Given the description of an element on the screen output the (x, y) to click on. 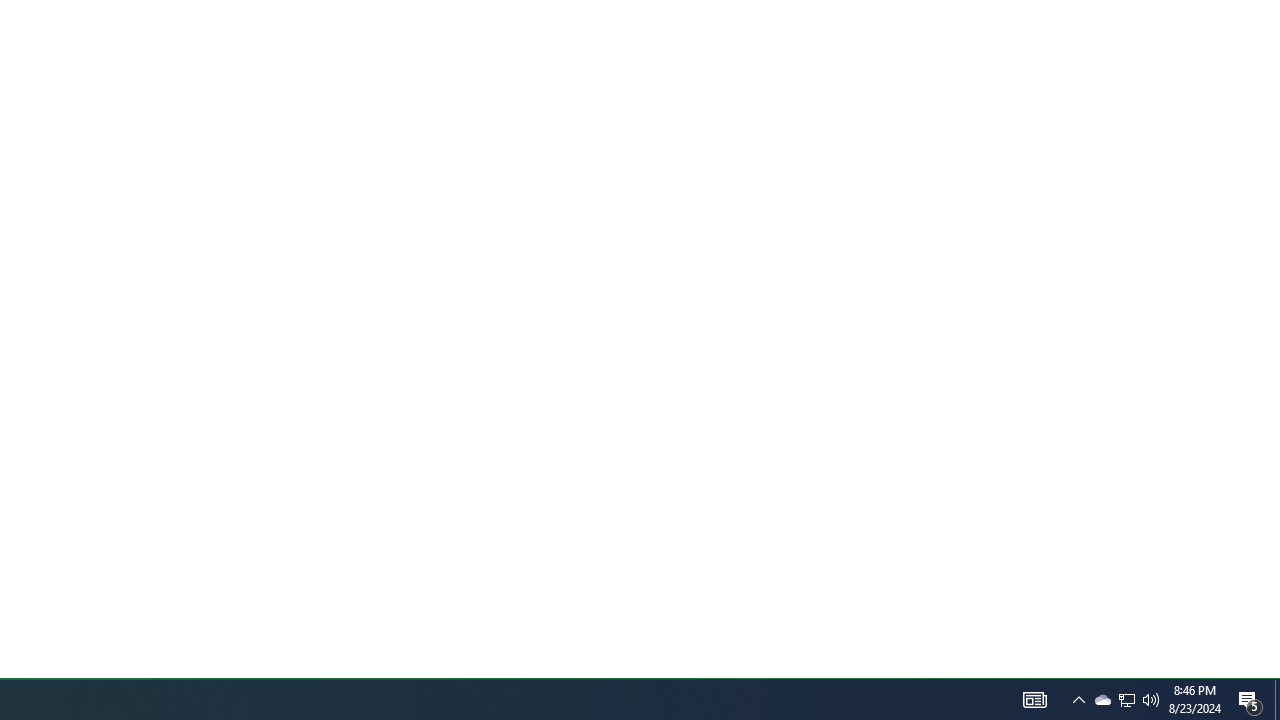
Notification Chevron (1078, 699)
Q2790: 100% (1151, 699)
Action Center, 5 new notifications (1126, 699)
Show desktop (1250, 699)
AutomationID: 4105 (1277, 699)
User Promoted Notification Area (1102, 699)
